Given the description of an element on the screen output the (x, y) to click on. 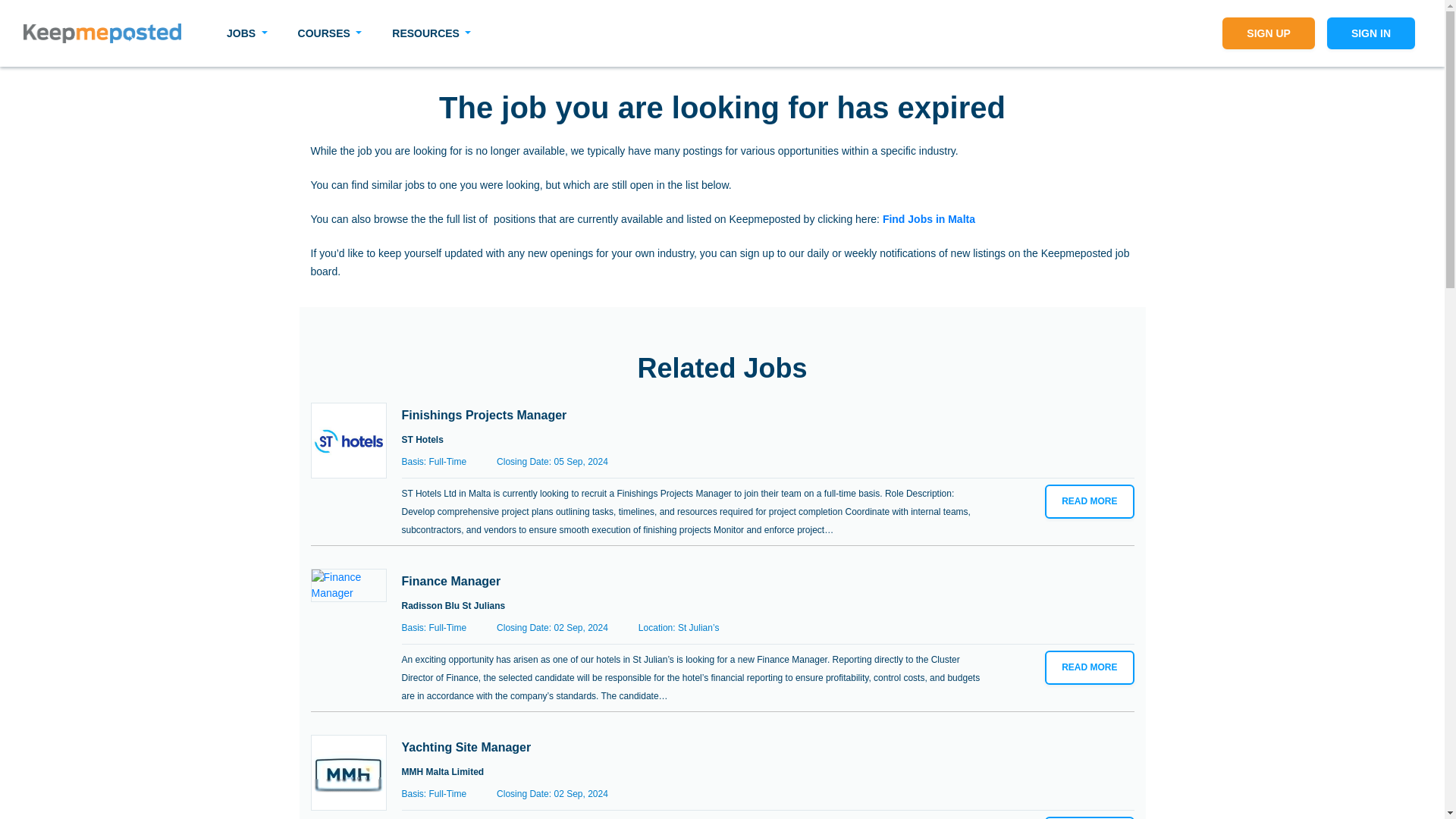
Sign In (1370, 33)
RESOURCES (431, 33)
JOBS (246, 33)
READ MORE (1089, 667)
Finance Manager (450, 581)
KeepMePosted (101, 32)
Jobs (246, 33)
Finishings Projects Manager (349, 440)
Find Jobs in Malta (928, 218)
Finishings Projects Manager - Read More (1089, 501)
Finishings Projects Manager (484, 413)
ST Hotels (422, 439)
READ MORE (1089, 817)
Radisson Blu St Julians (453, 605)
Sign Up (1268, 33)
